Given the description of an element on the screen output the (x, y) to click on. 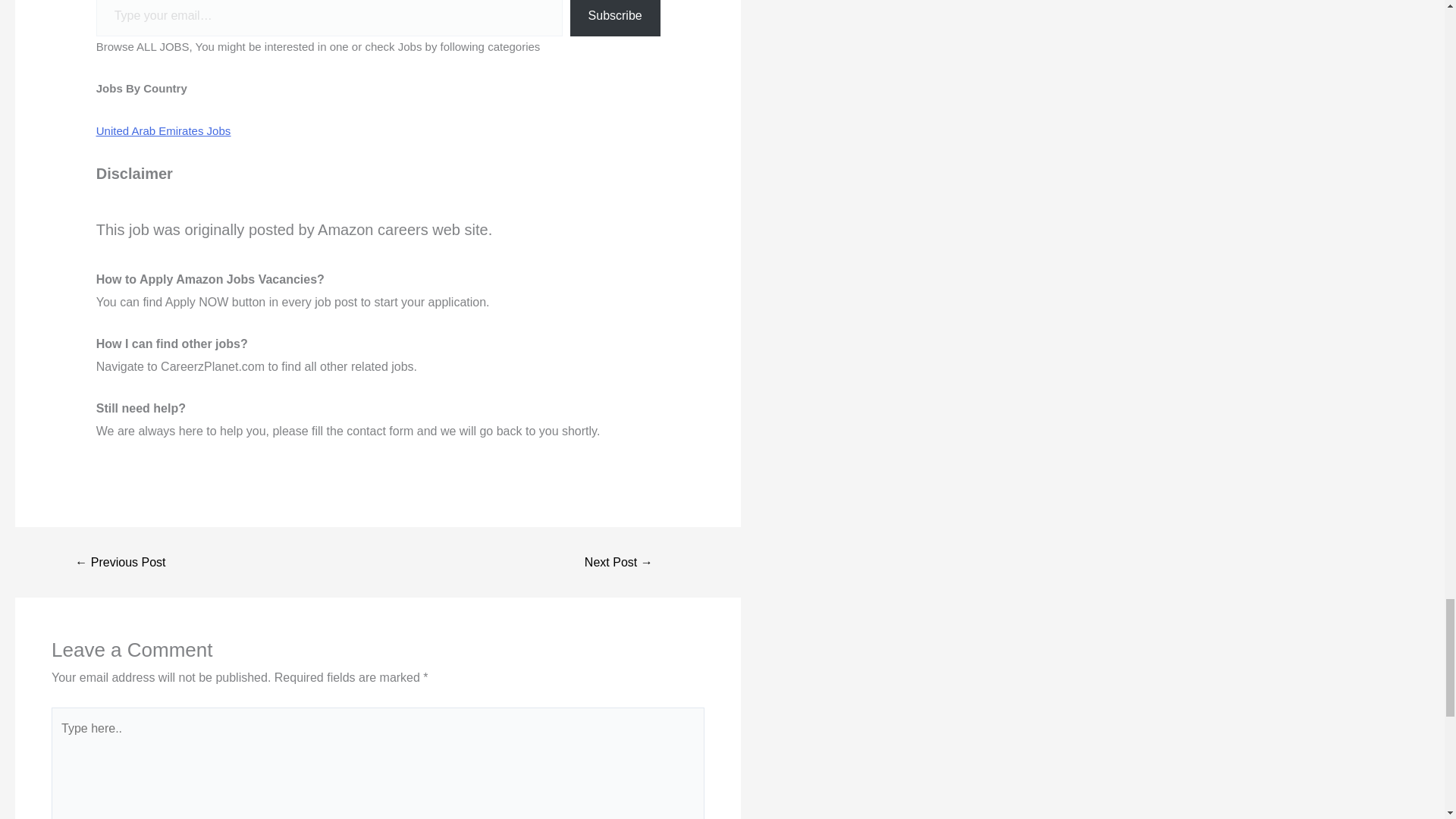
United Arab Emirates Jobs (163, 130)
Subscribe (615, 18)
